Given the description of an element on the screen output the (x, y) to click on. 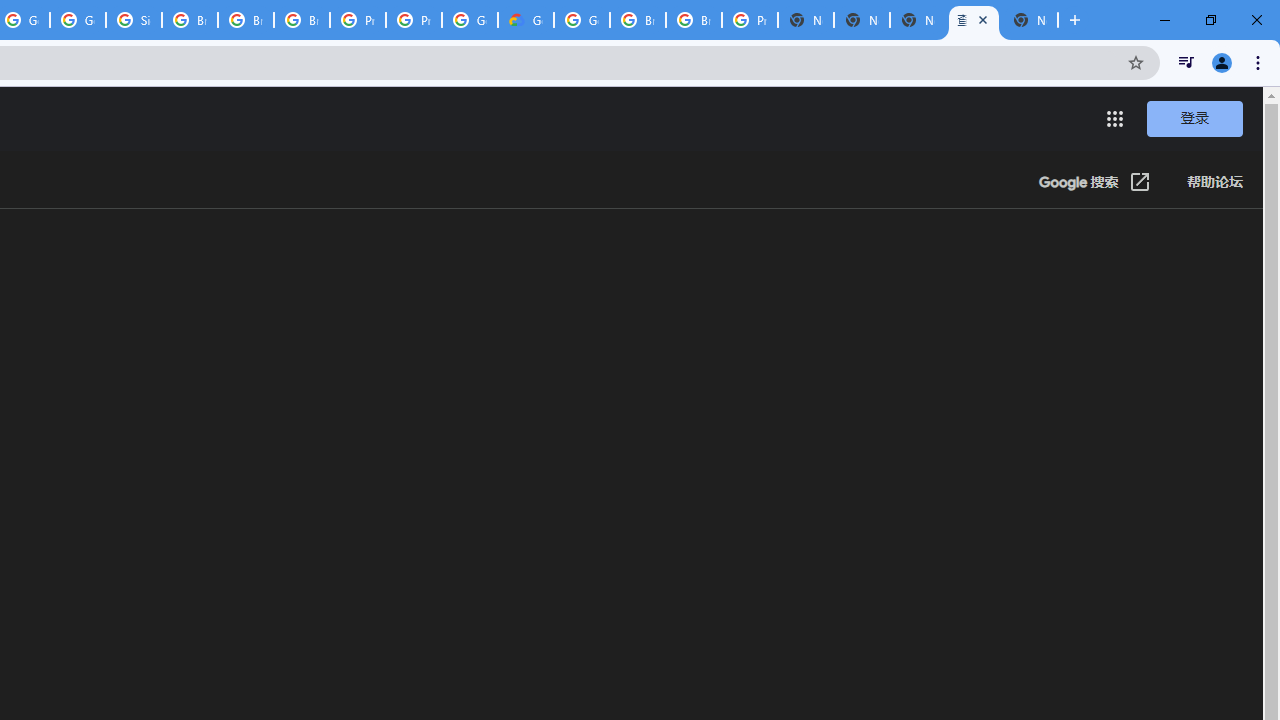
New Tab (1030, 20)
Browse Chrome as a guest - Computer - Google Chrome Help (637, 20)
Restore (1210, 20)
Bookmark this tab (1135, 62)
Google Cloud Platform (469, 20)
Browse Chrome as a guest - Computer - Google Chrome Help (245, 20)
Google Cloud Platform (582, 20)
Minimize (1165, 20)
